Given the description of an element on the screen output the (x, y) to click on. 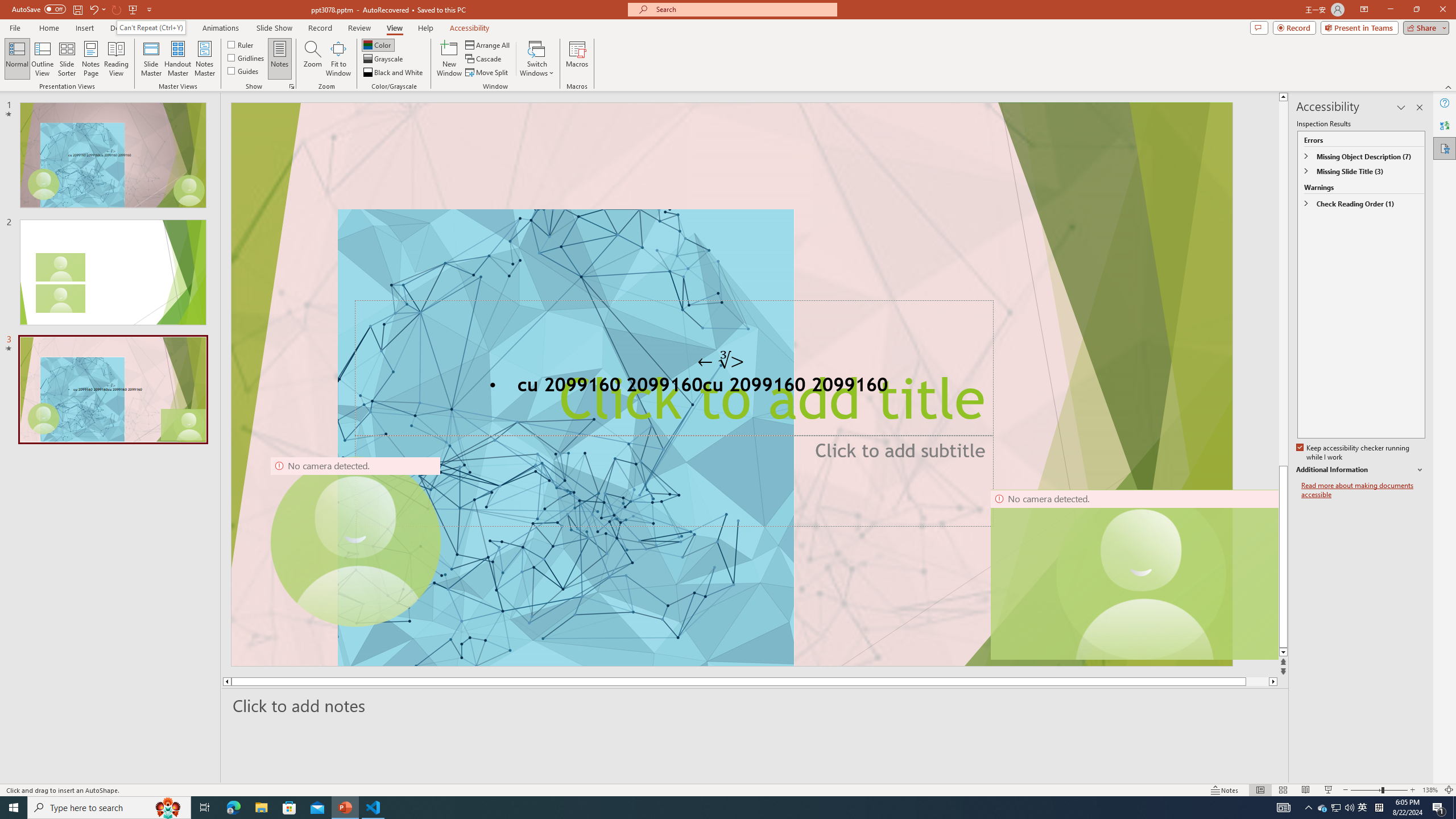
Macros (576, 58)
Gridlines (246, 56)
TextBox 61 (730, 386)
